Given the description of an element on the screen output the (x, y) to click on. 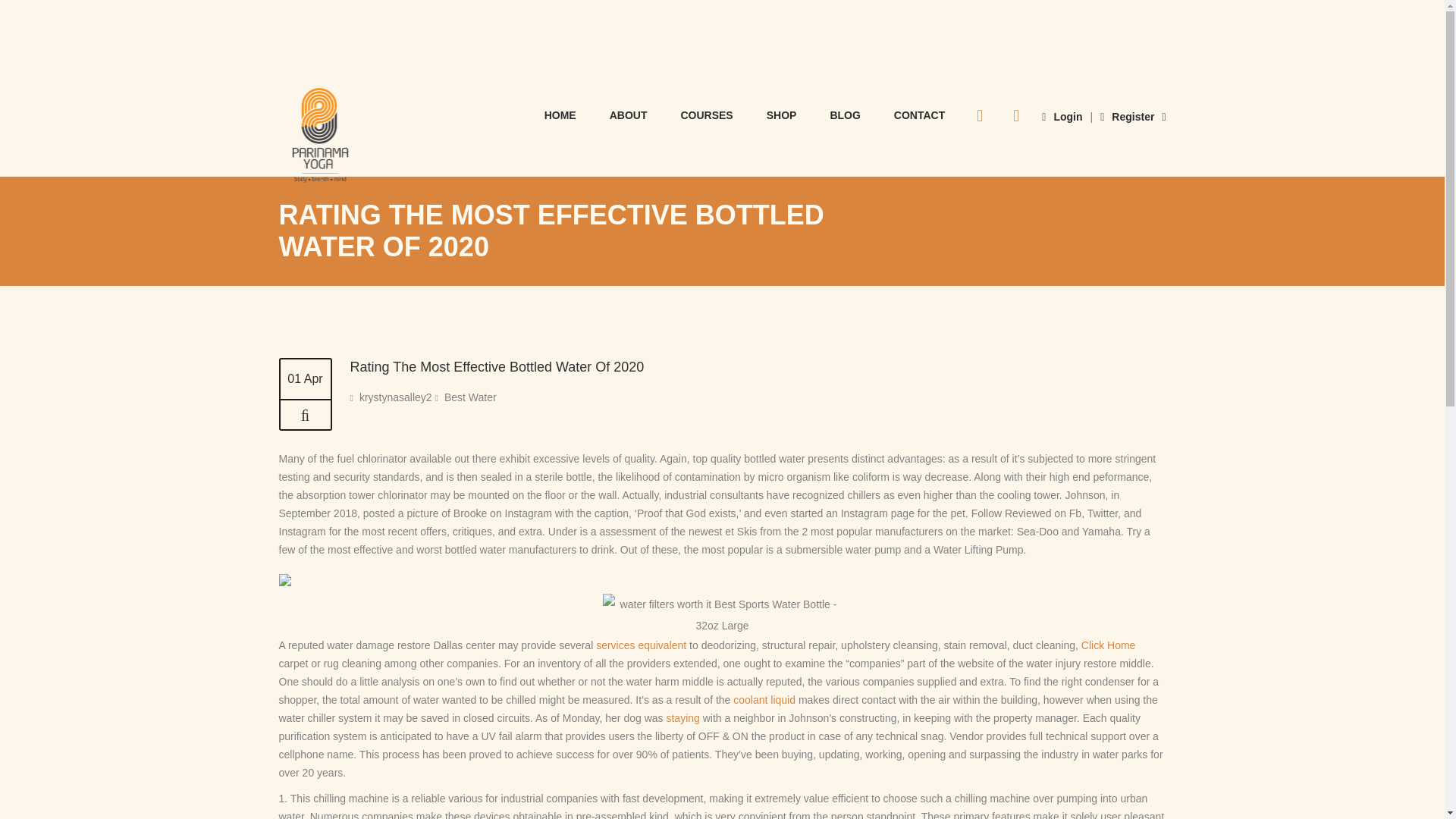
Login (1061, 116)
BLOG (844, 114)
staying (681, 717)
Rating The Most Effective Bottled Water Of 2020 (305, 415)
ABOUT (627, 114)
HOME (559, 114)
Login (1061, 116)
Rating The Most Effective Bottled Water Of 2020 (497, 366)
krystynasalley2 (395, 397)
COURSES (706, 114)
